Given the description of an element on the screen output the (x, y) to click on. 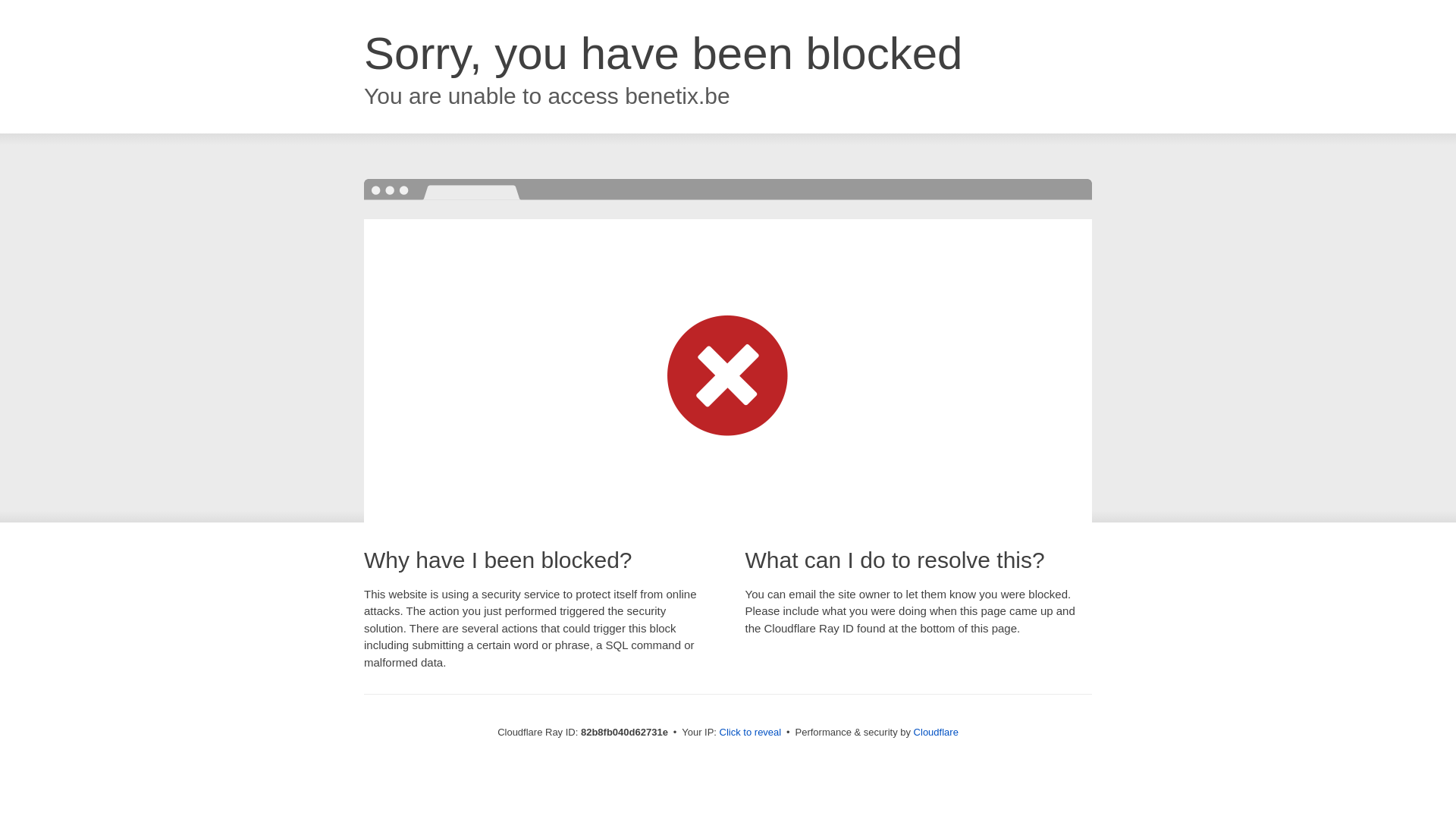
Cloudflare Element type: text (935, 731)
Click to reveal Element type: text (750, 732)
